Given the description of an element on the screen output the (x, y) to click on. 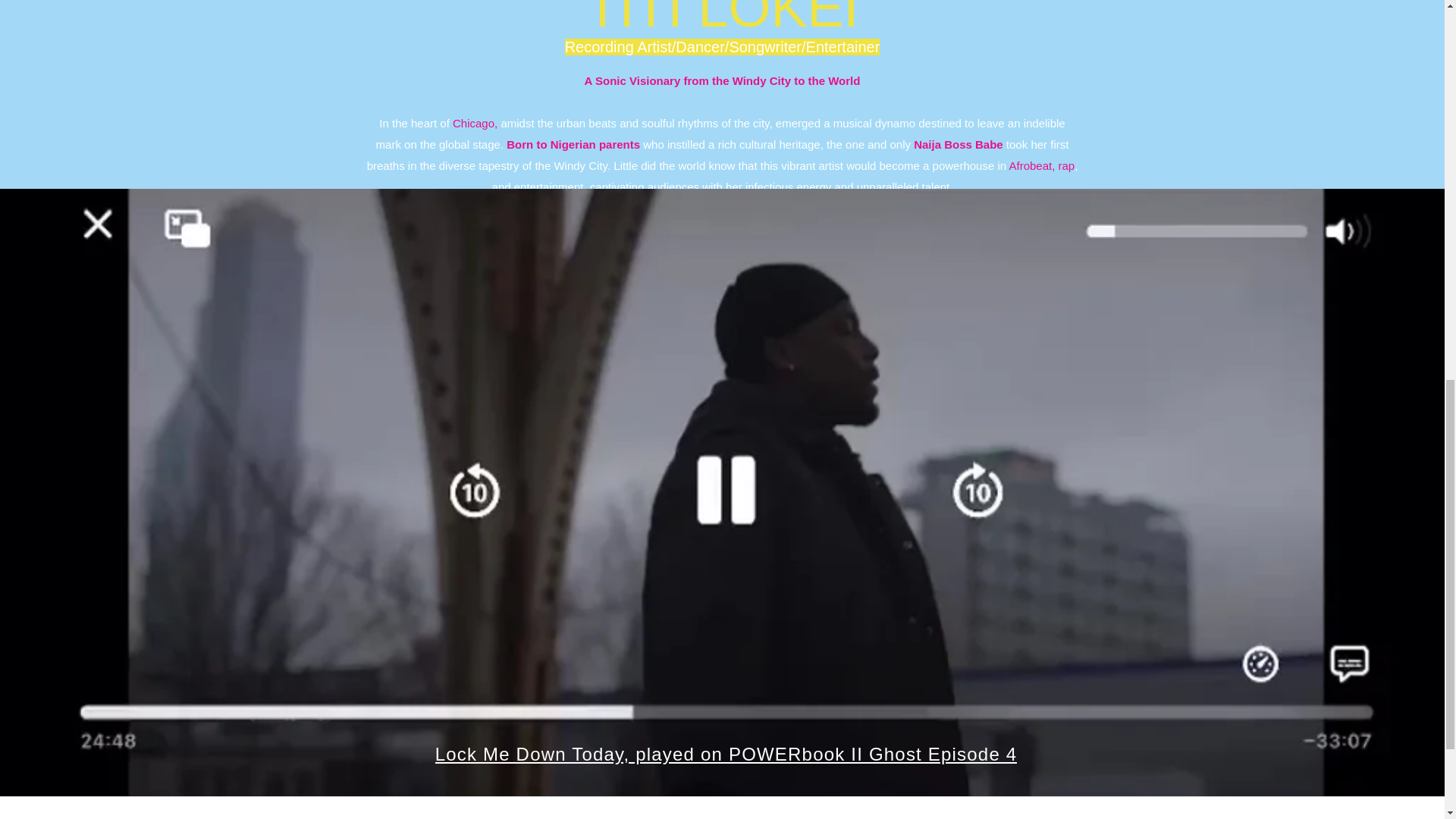
Submit (1039, 592)
Learn More (722, 356)
Lock Me Down Today, played on POWERbook II Ghost Episode 4 (727, 754)
